Given the description of an element on the screen output the (x, y) to click on. 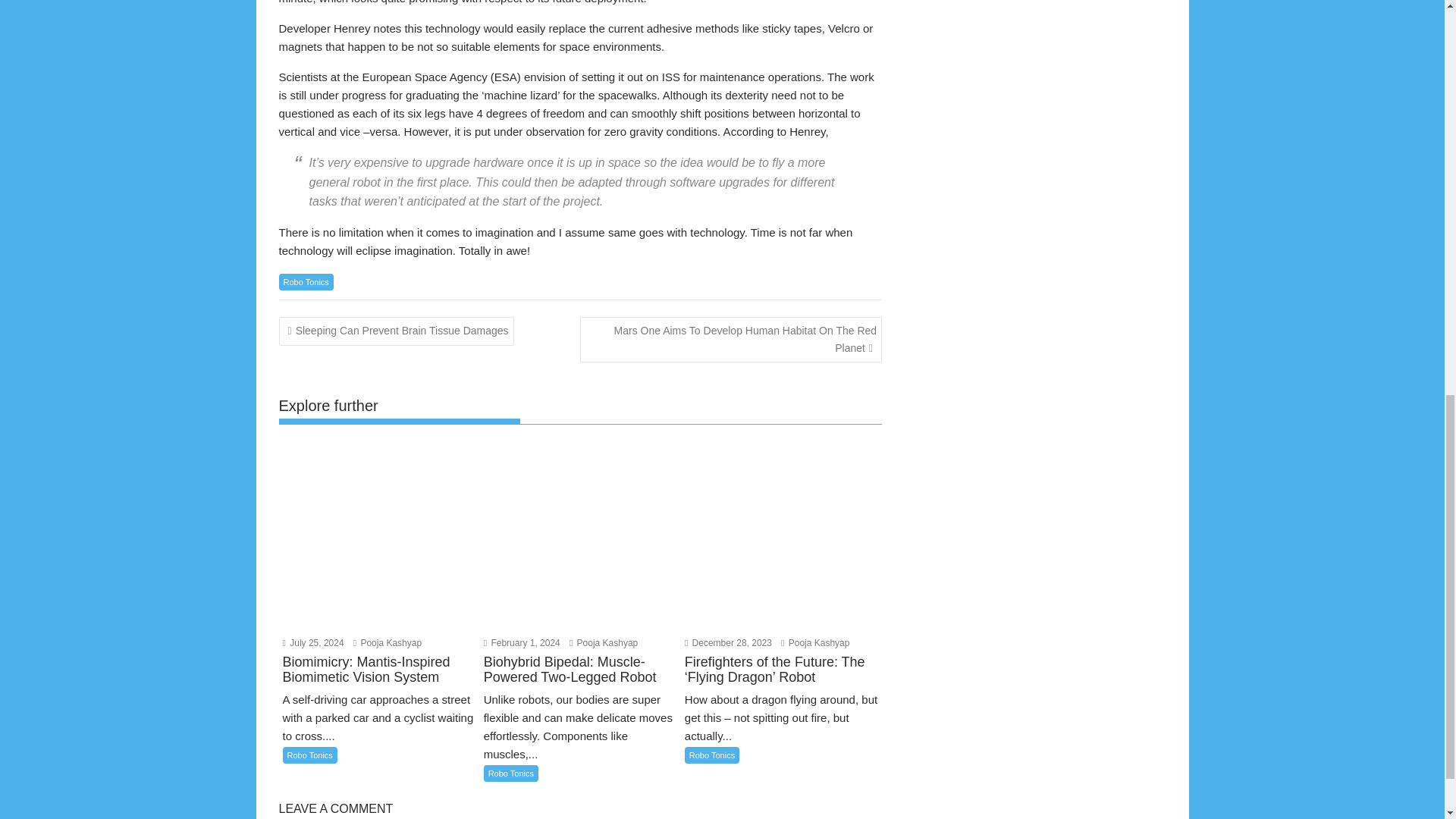
Pooja Kashyap (387, 643)
Pooja Kashyap (814, 643)
Pooja Kashyap (603, 643)
